Given the description of an element on the screen output the (x, y) to click on. 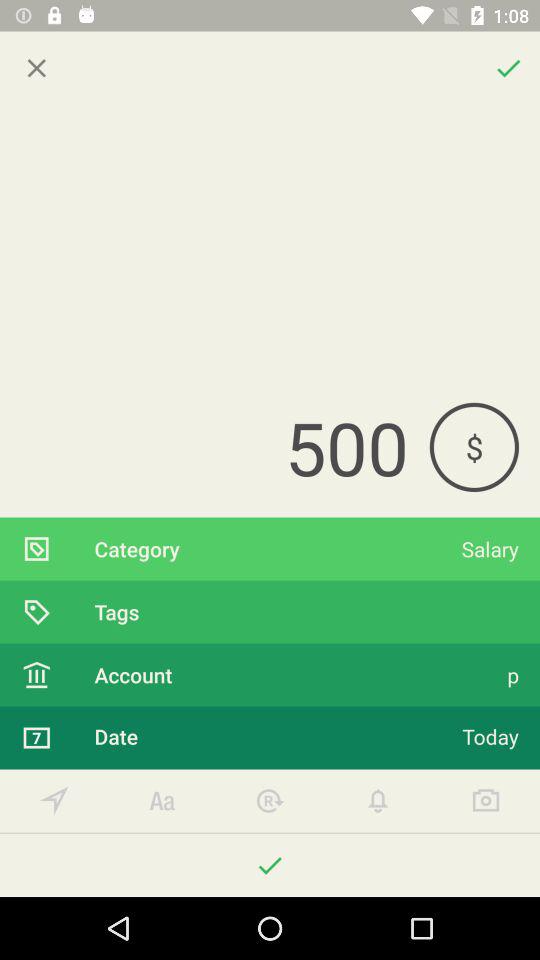
exit out (36, 68)
